Given the description of an element on the screen output the (x, y) to click on. 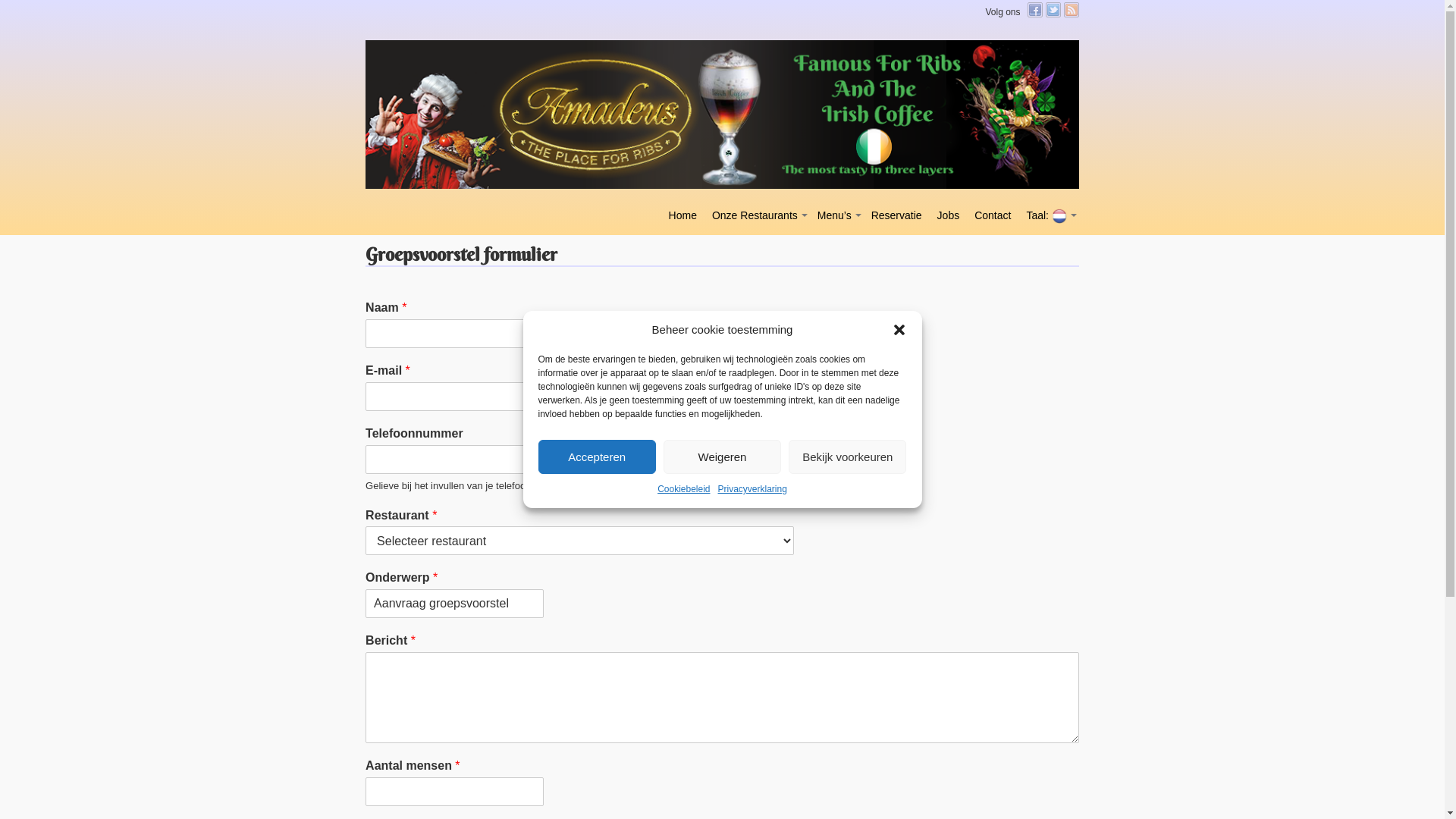
Twitter Element type: text (1052, 9)
Taal:  Element type: text (1045, 215)
RSS Feed Element type: text (1070, 9)
Jobs Element type: text (948, 215)
Contact Element type: text (992, 215)
Facebook Element type: text (1033, 9)
Cookiebeleid Element type: text (683, 488)
Reservatie Element type: text (896, 215)
Bekijk voorkeuren Element type: text (847, 456)
Amadeus Element type: text (426, 46)
Privacyverklaring Element type: text (752, 488)
Accepteren Element type: text (596, 456)
Home Element type: text (682, 215)
Weigeren Element type: text (722, 456)
Onze Restaurants Element type: text (754, 215)
